Given the description of an element on the screen output the (x, y) to click on. 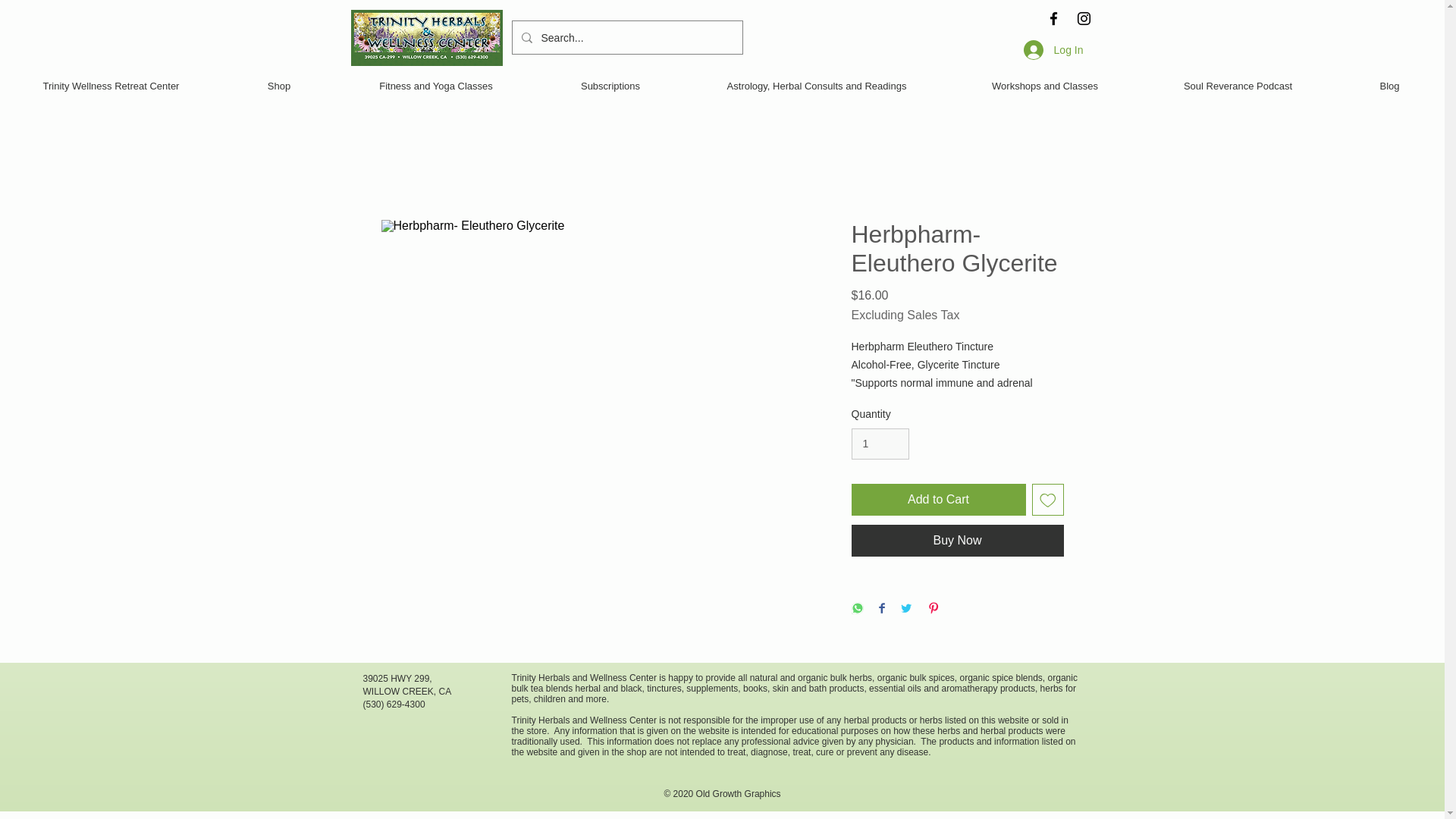
1 (879, 443)
Add to Cart (937, 499)
Astrology, Herbal Consults and Readings (816, 86)
Log In (1053, 49)
Trinity Wellness Retreat Center (111, 86)
Buy Now (956, 540)
Subscriptions (609, 86)
Soul Reverance Podcast (1238, 86)
Shop (279, 86)
Workshops and Classes (1045, 86)
Fitness and Yoga Classes (435, 86)
